Given the description of an element on the screen output the (x, y) to click on. 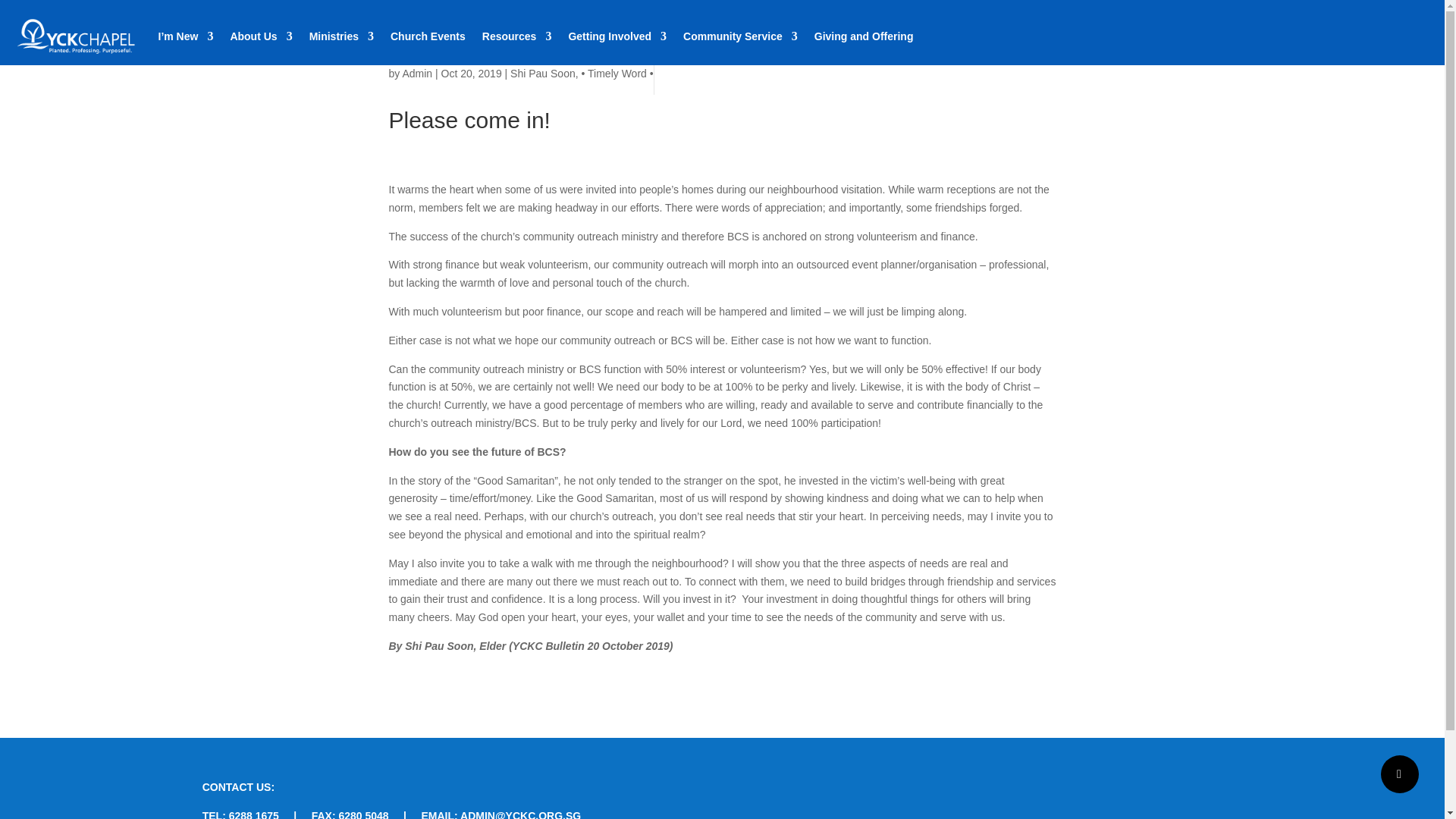
Ministries (341, 36)
About Us (261, 36)
Posts by Admin (416, 73)
